Given the description of an element on the screen output the (x, y) to click on. 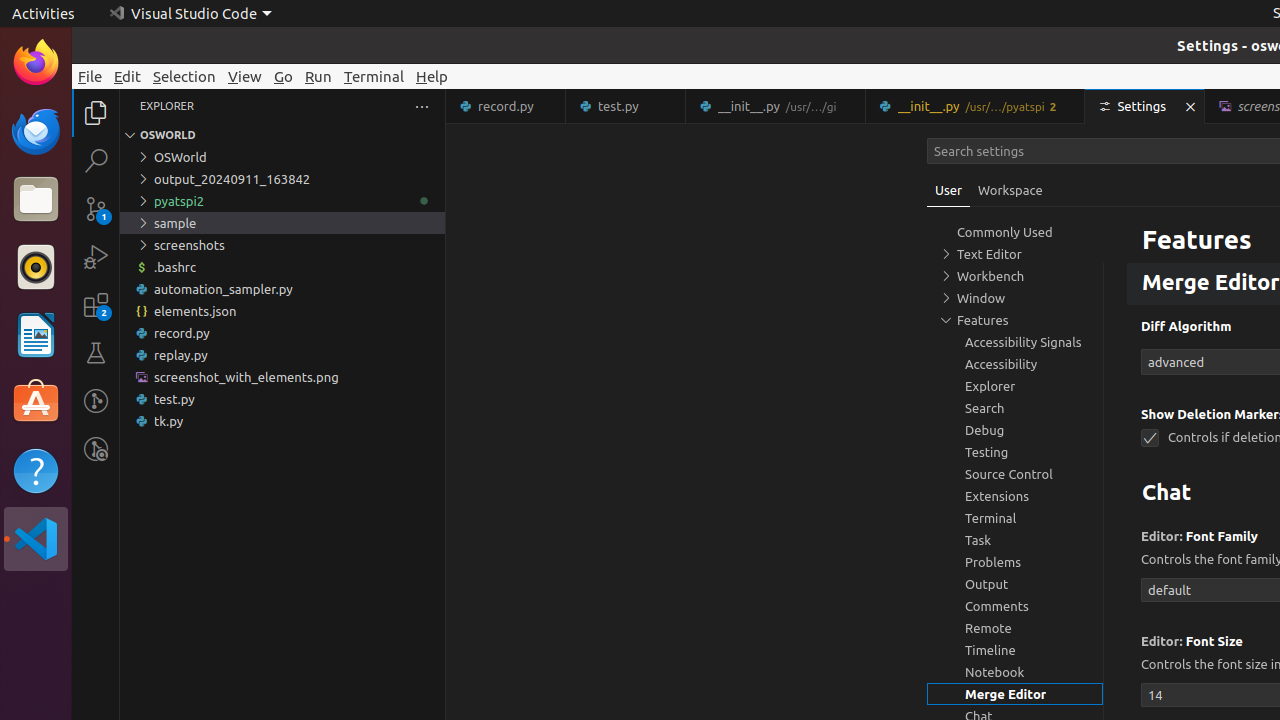
Accessibility, group Element type: tree-item (1015, 364)
Explorer (Ctrl+Shift+E) Element type: page-tab (96, 113)
Go Element type: push-button (283, 76)
Notebook, group Element type: tree-item (1015, 672)
Explorer, group Element type: tree-item (1015, 386)
